Given the description of an element on the screen output the (x, y) to click on. 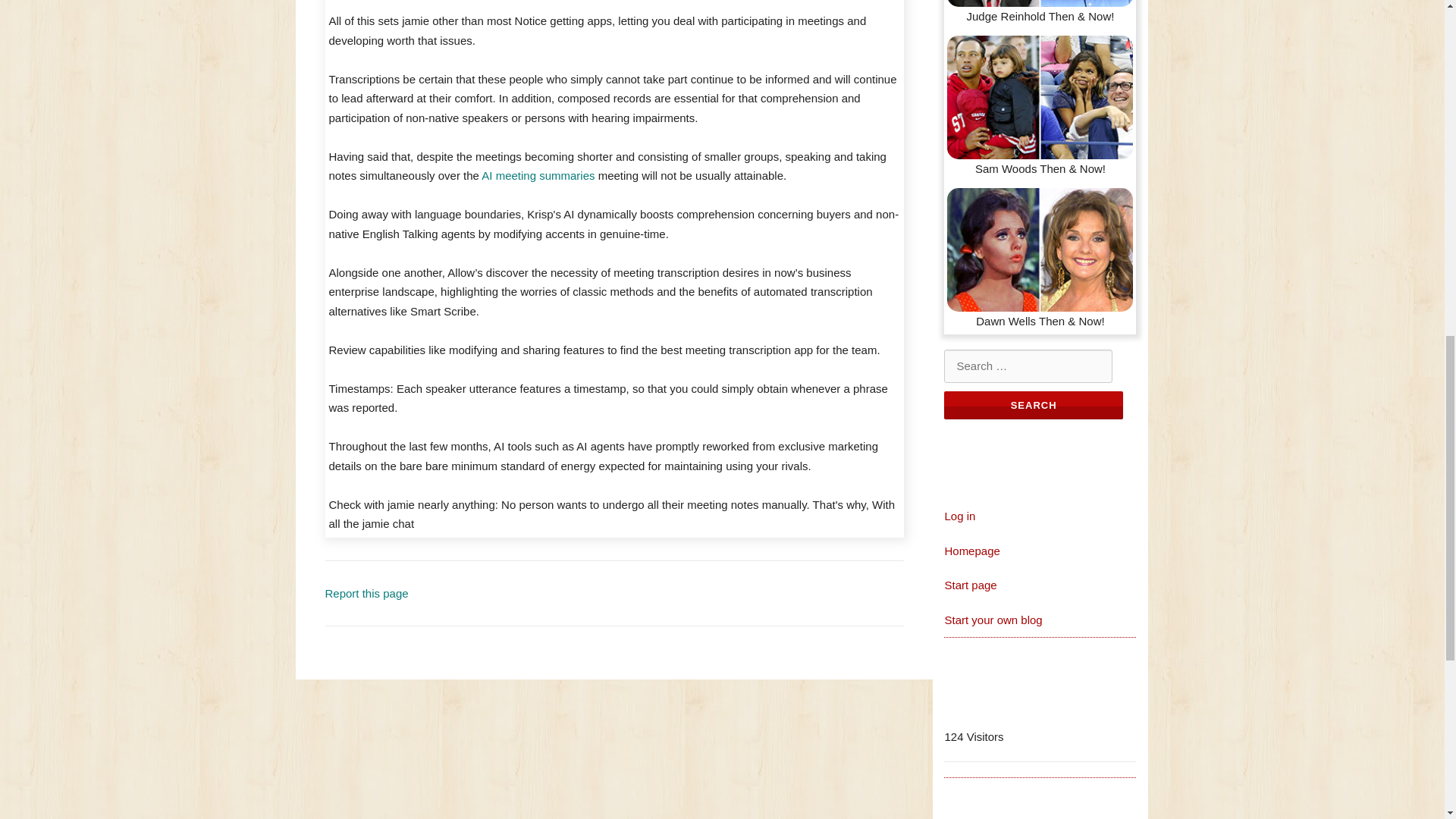
Log in (959, 515)
Search (1032, 405)
AI meeting summaries (537, 174)
Start page (969, 584)
Start your own blog (992, 619)
Search (1032, 405)
Report this page (365, 593)
Homepage (970, 550)
Search (1032, 405)
